Given the description of an element on the screen output the (x, y) to click on. 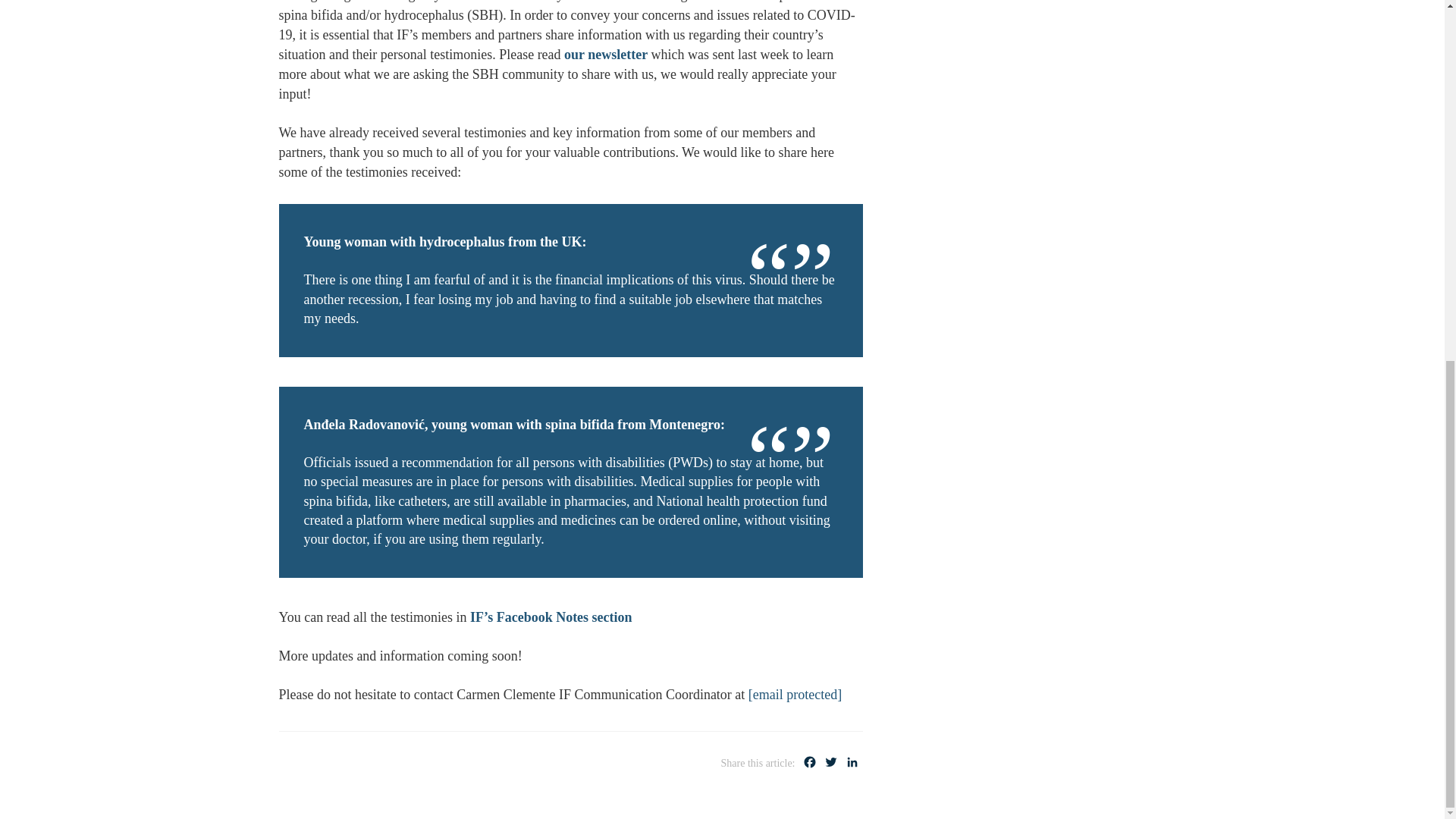
LinkedIn (852, 764)
Twitter (831, 764)
our newsletter (605, 54)
LinkedIn (852, 764)
Facebook (810, 764)
Facebook (810, 764)
Twitter (831, 764)
